Given the description of an element on the screen output the (x, y) to click on. 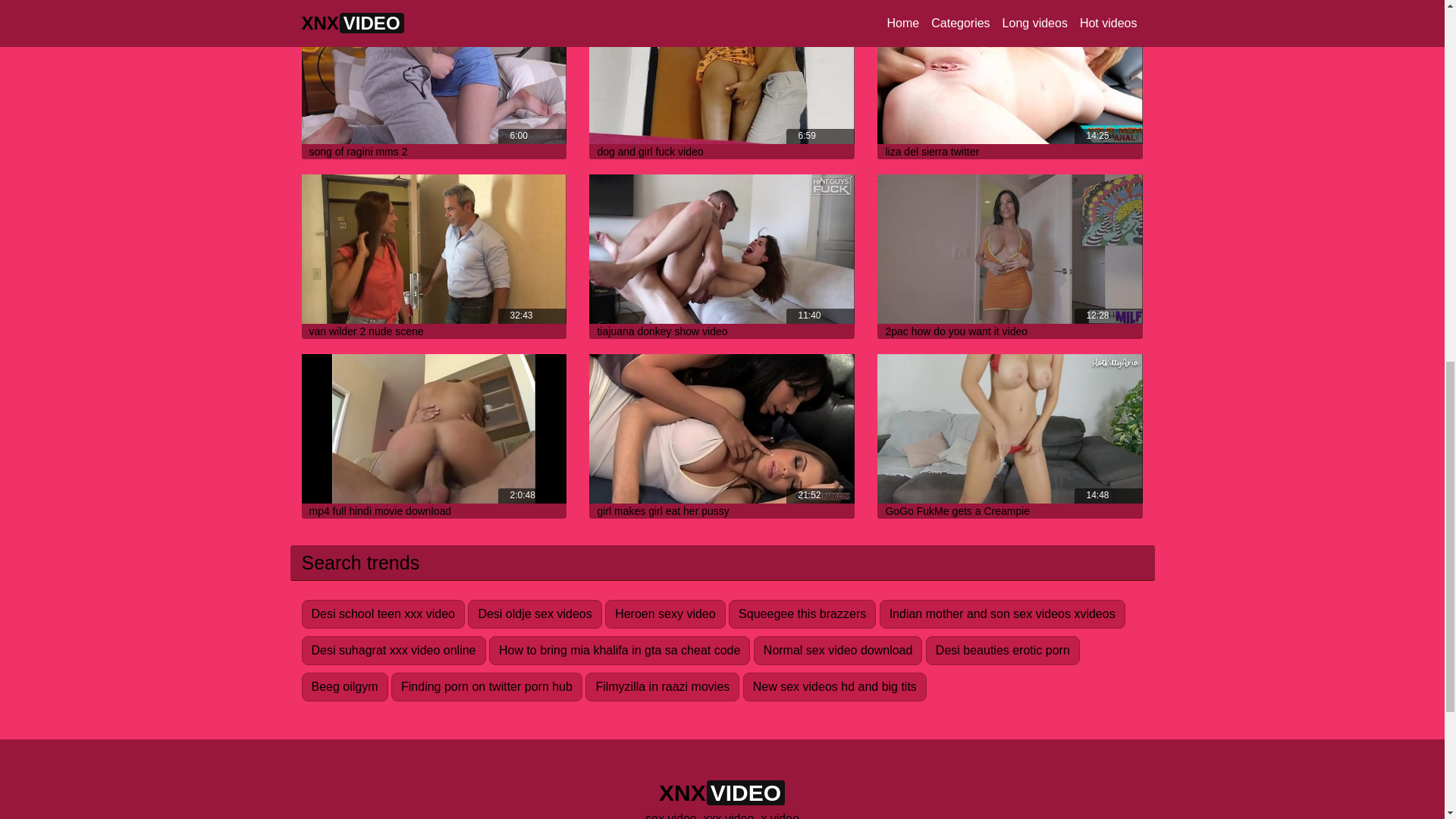
How to bring mia khalifa in gta sa cheat code (619, 650)
van wilder 2 nude scene (365, 331)
song of ragini mms 2 (357, 151)
girl makes girl eat her pussy (662, 510)
2pac how do you want it video (956, 331)
Normal sex video download (838, 650)
GoGo FukMe gets a Creampie (957, 510)
Beeg oilgym (344, 686)
song of ragini mms 2 (434, 72)
mp4 full hindi movie download (379, 510)
Indian mother and son sex videos xvideos (1002, 613)
dog and girl fuck video (649, 151)
tiajuana donkey show video (661, 331)
Squeegee this brazzers (802, 613)
Heroen sexy video (665, 613)
